Given the description of an element on the screen output the (x, y) to click on. 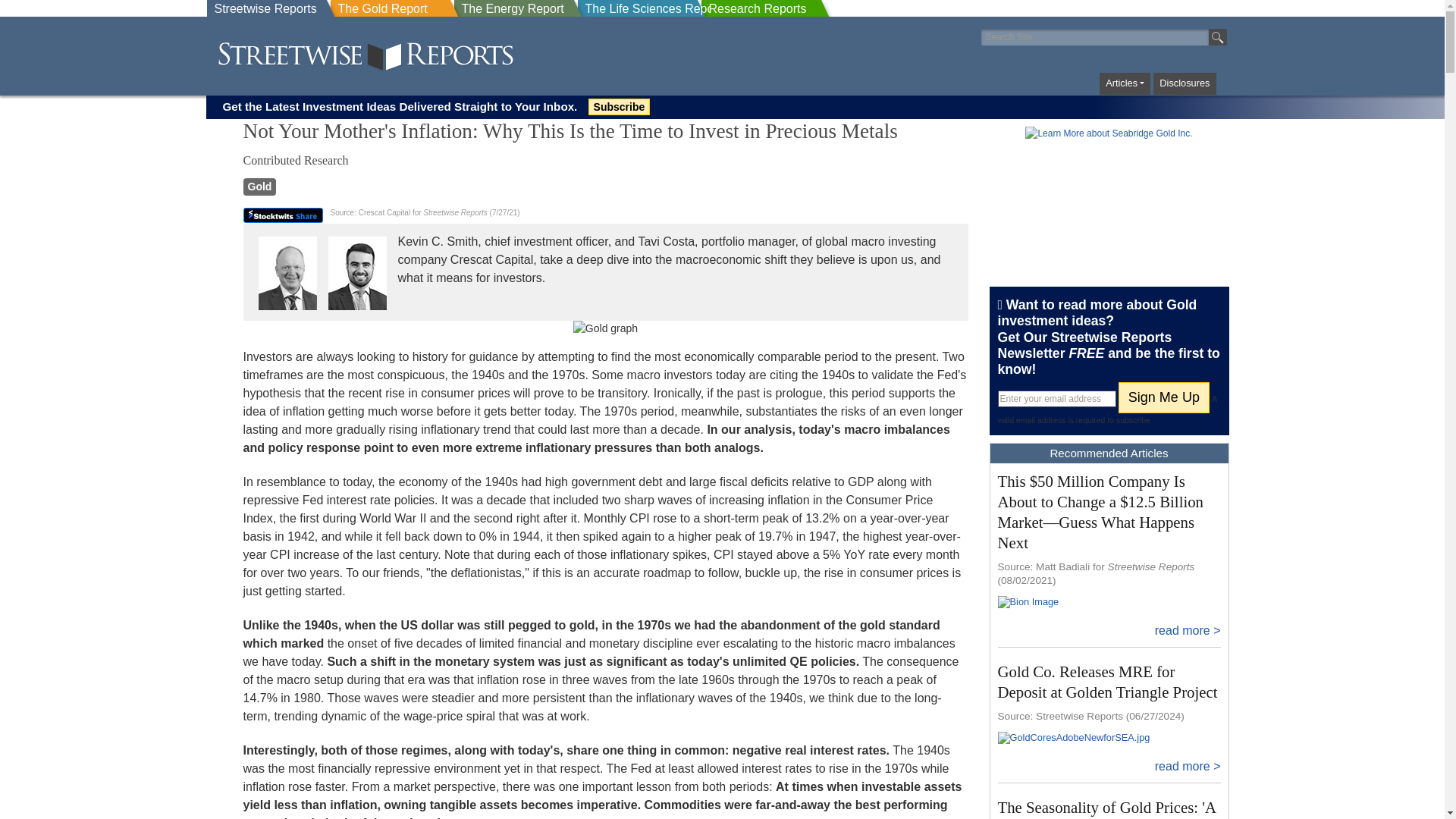
More Gold Articles (259, 186)
Articles (1124, 83)
Sign Me Up (1163, 397)
Search (1217, 36)
